Given the description of an element on the screen output the (x, y) to click on. 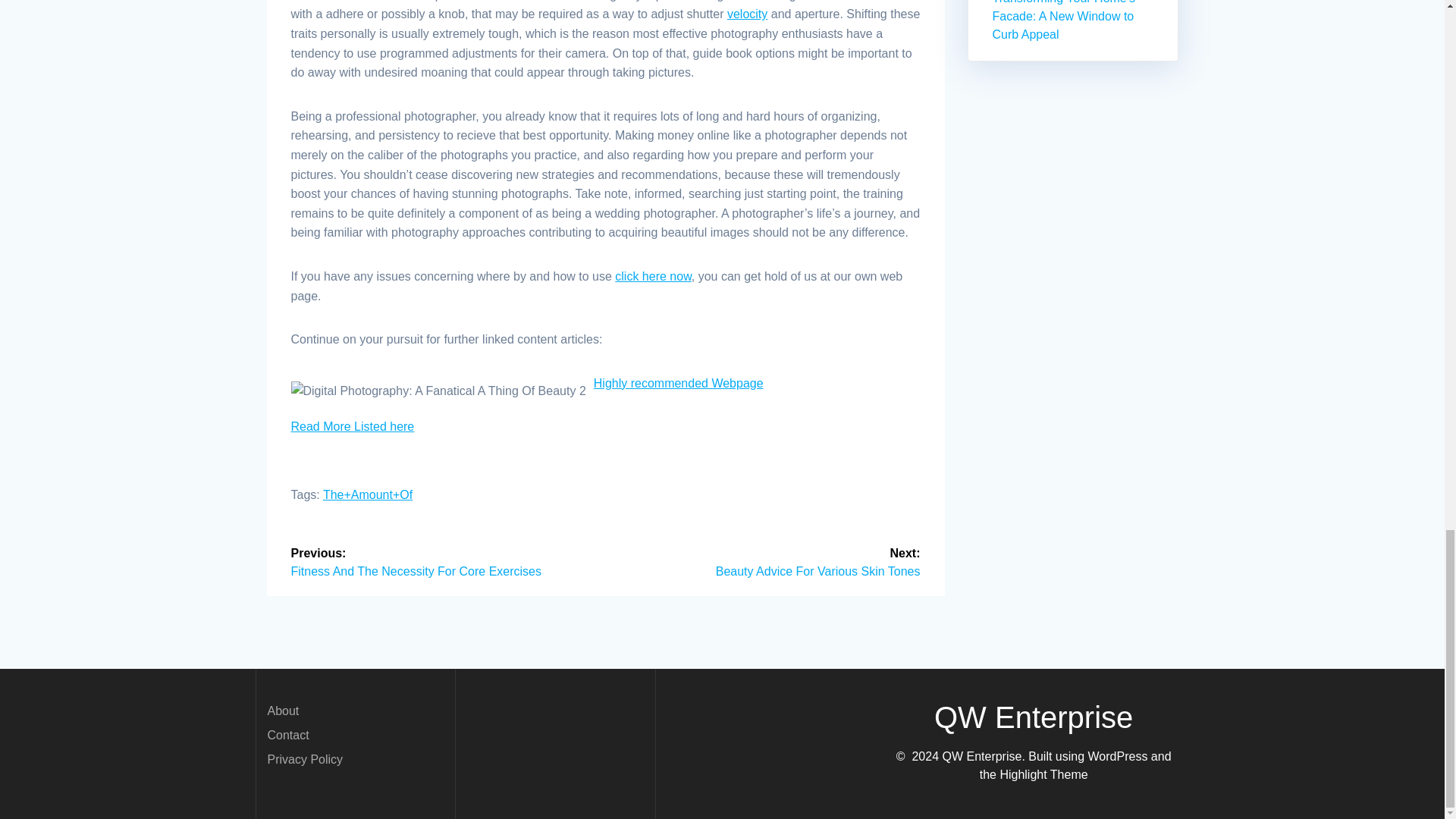
About (282, 709)
Contact (287, 734)
velocity (746, 13)
Privacy Policy (304, 758)
click here now (652, 276)
Read More Listed here (352, 426)
Highly recommended Webpage (678, 382)
